Given the description of an element on the screen output the (x, y) to click on. 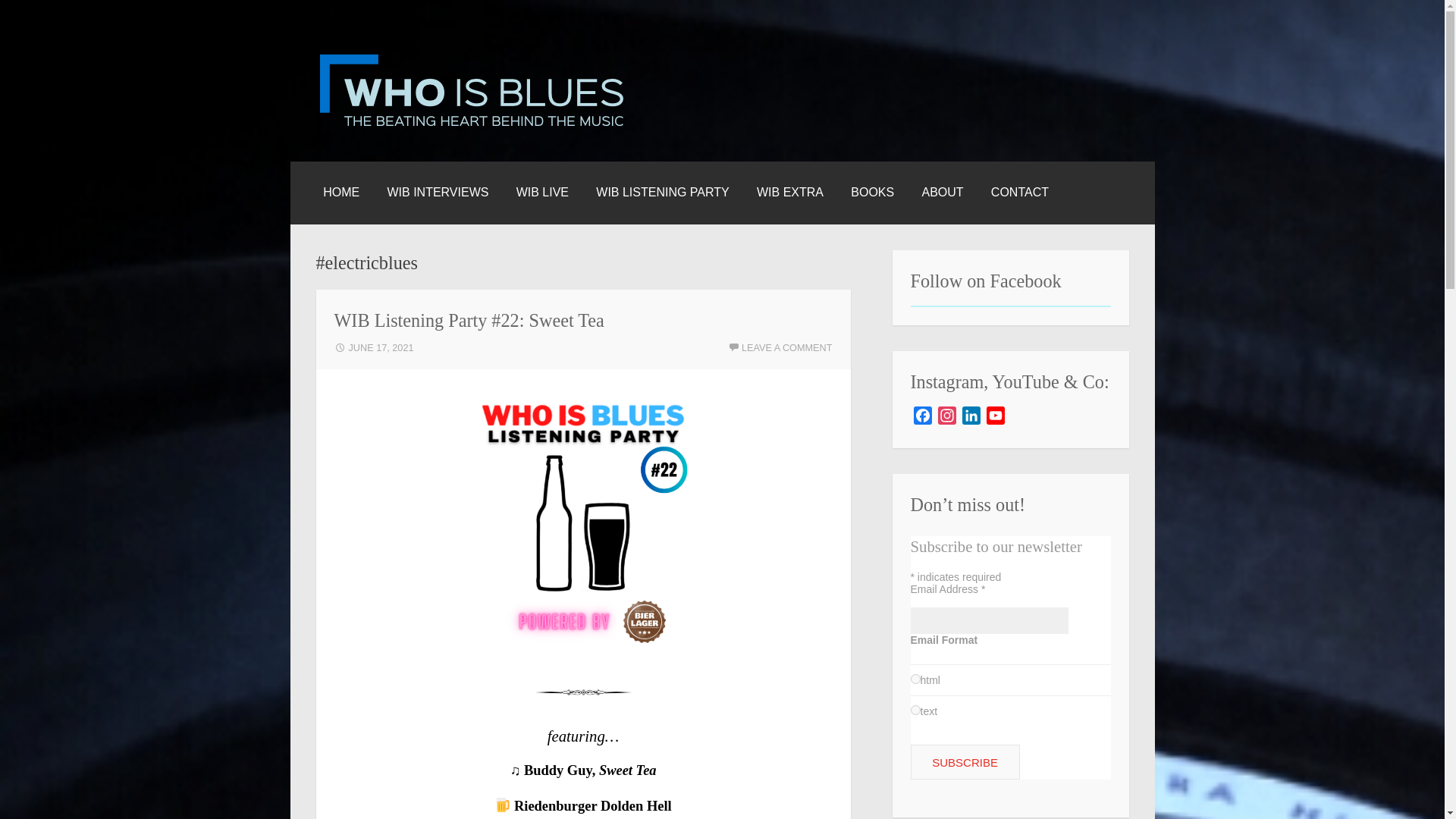
BOOKS (871, 192)
CONTACT (1019, 192)
JUNE 17, 2021 (373, 347)
YouTube Channel (994, 417)
text (915, 709)
LinkedIn (970, 417)
Instagram (946, 417)
Who Is Blues (399, 150)
Instagram (946, 417)
html (915, 678)
LEAVE A COMMENT (780, 347)
LinkedIn (970, 417)
ABOUT (941, 192)
YouTube Channel (994, 417)
